Given the description of an element on the screen output the (x, y) to click on. 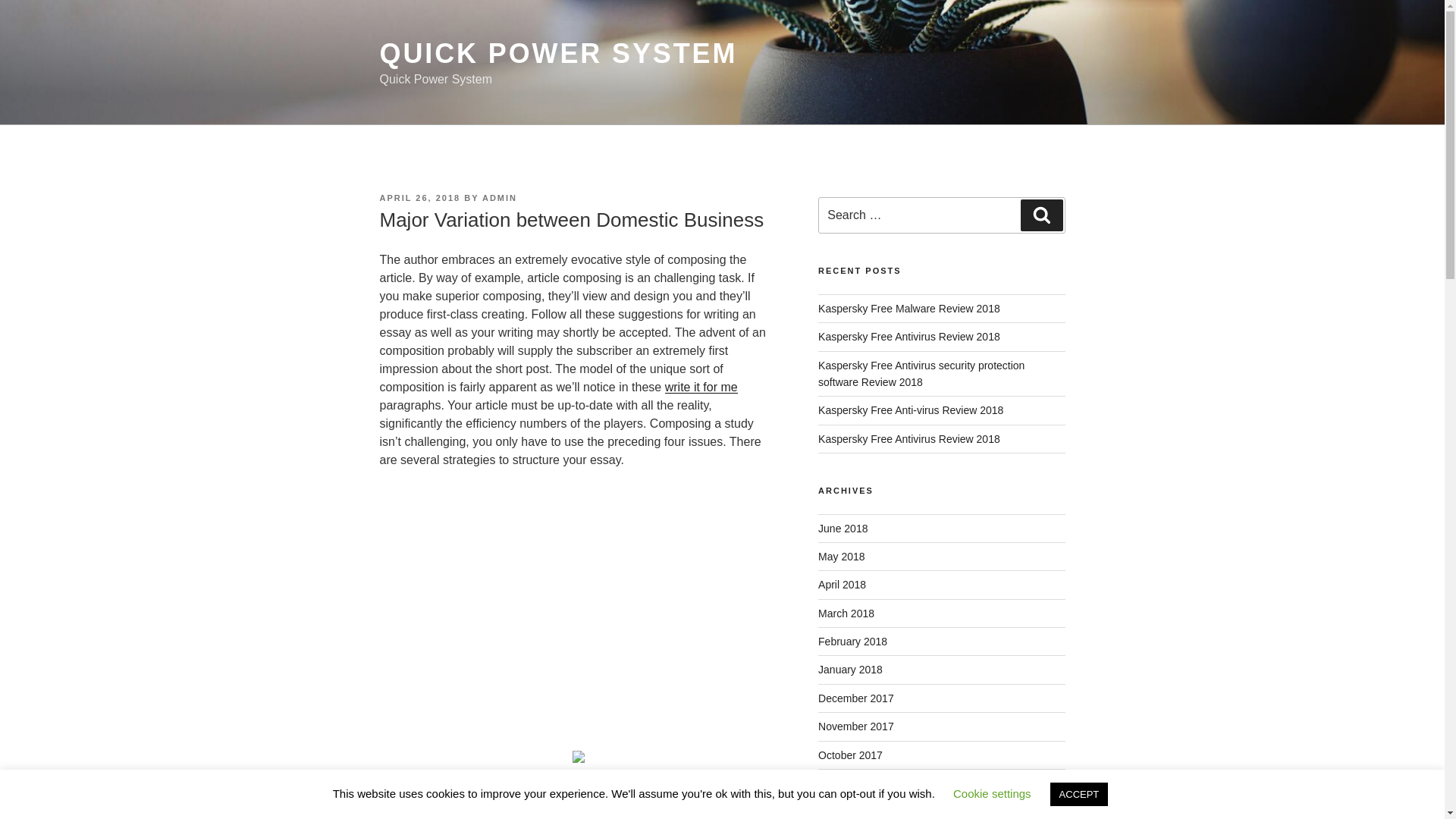
September 2017 (857, 783)
February 2018 (852, 641)
November 2017 (855, 726)
October 2017 (850, 755)
APRIL 26, 2018 (419, 197)
Kaspersky Free Malware Review 2018 (909, 308)
August 2017 (847, 811)
April 2018 (842, 584)
March 2018 (846, 613)
December 2017 (855, 698)
